Given the description of an element on the screen output the (x, y) to click on. 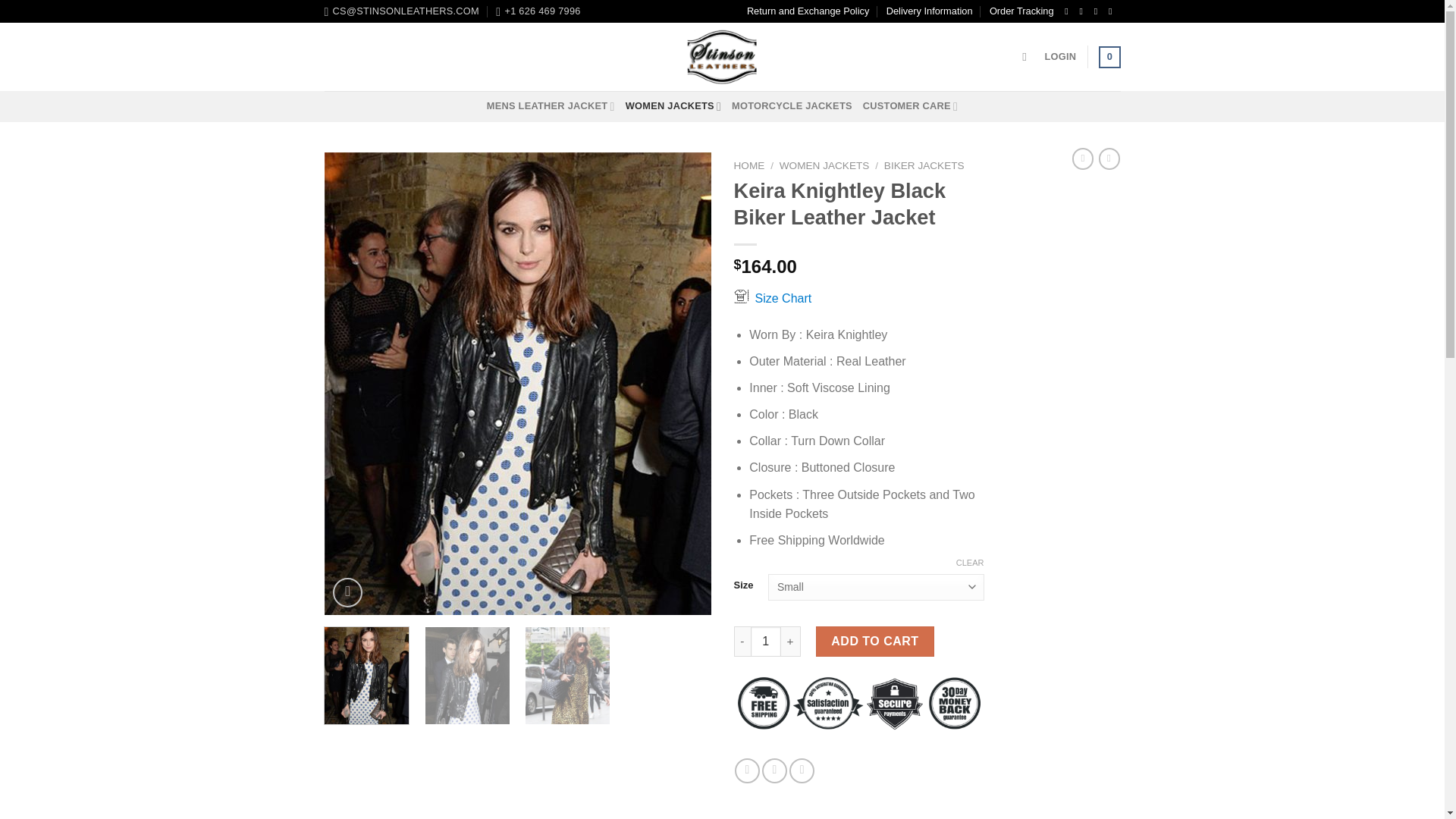
WOMEN JACKETS (673, 105)
Order Tracking (1022, 11)
LOGIN (1061, 56)
Delivery Information (929, 11)
Share on Facebook (747, 770)
1 (765, 641)
MENS LEATHER JACKET (550, 105)
MOTORCYCLE JACKETS (791, 105)
Zoom (347, 592)
